Given the description of an element on the screen output the (x, y) to click on. 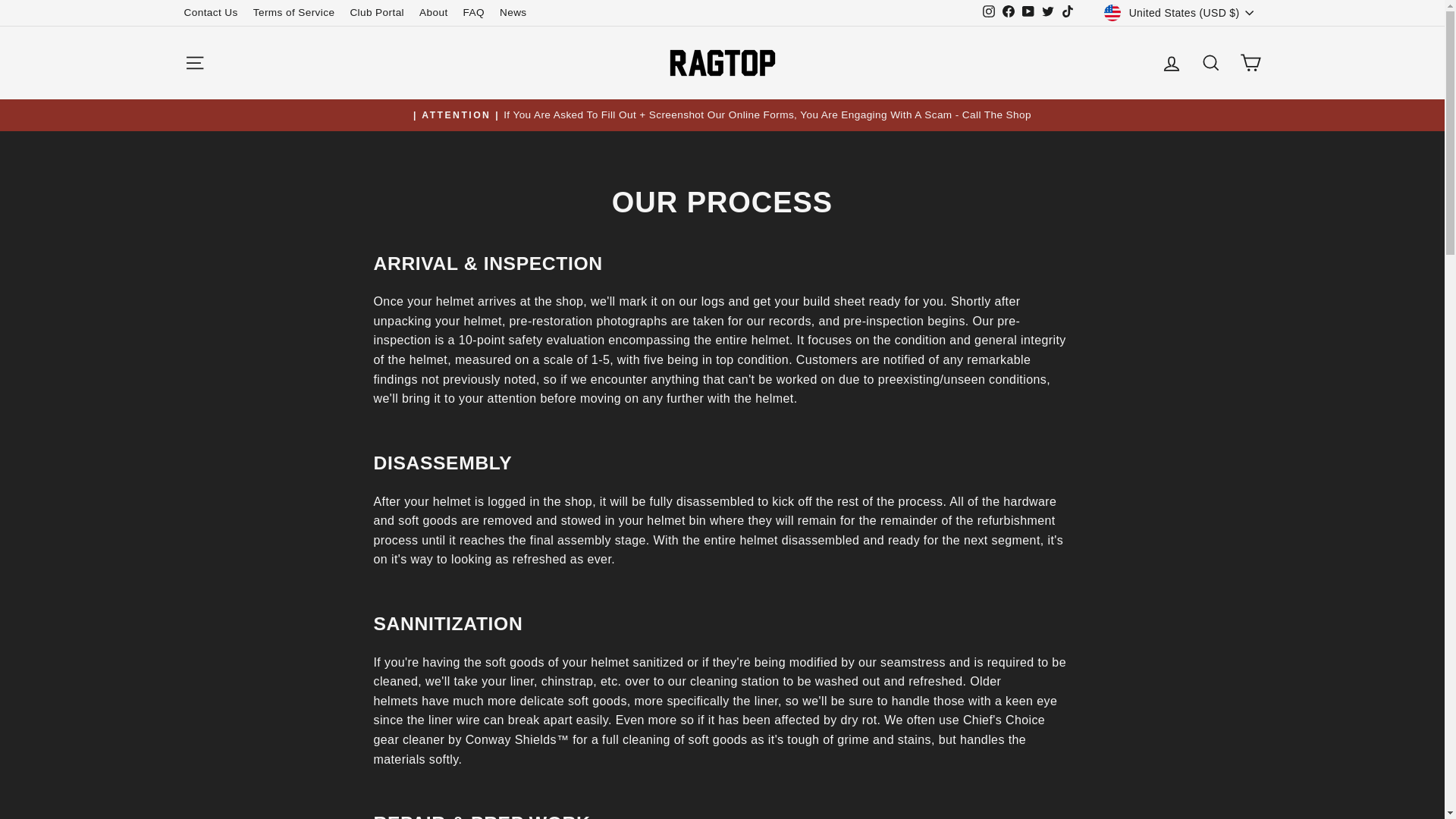
Club Portal (377, 12)
Terms of Service (294, 12)
About (433, 12)
News (513, 12)
Contact Us (210, 12)
FAQ (473, 12)
